Given the description of an element on the screen output the (x, y) to click on. 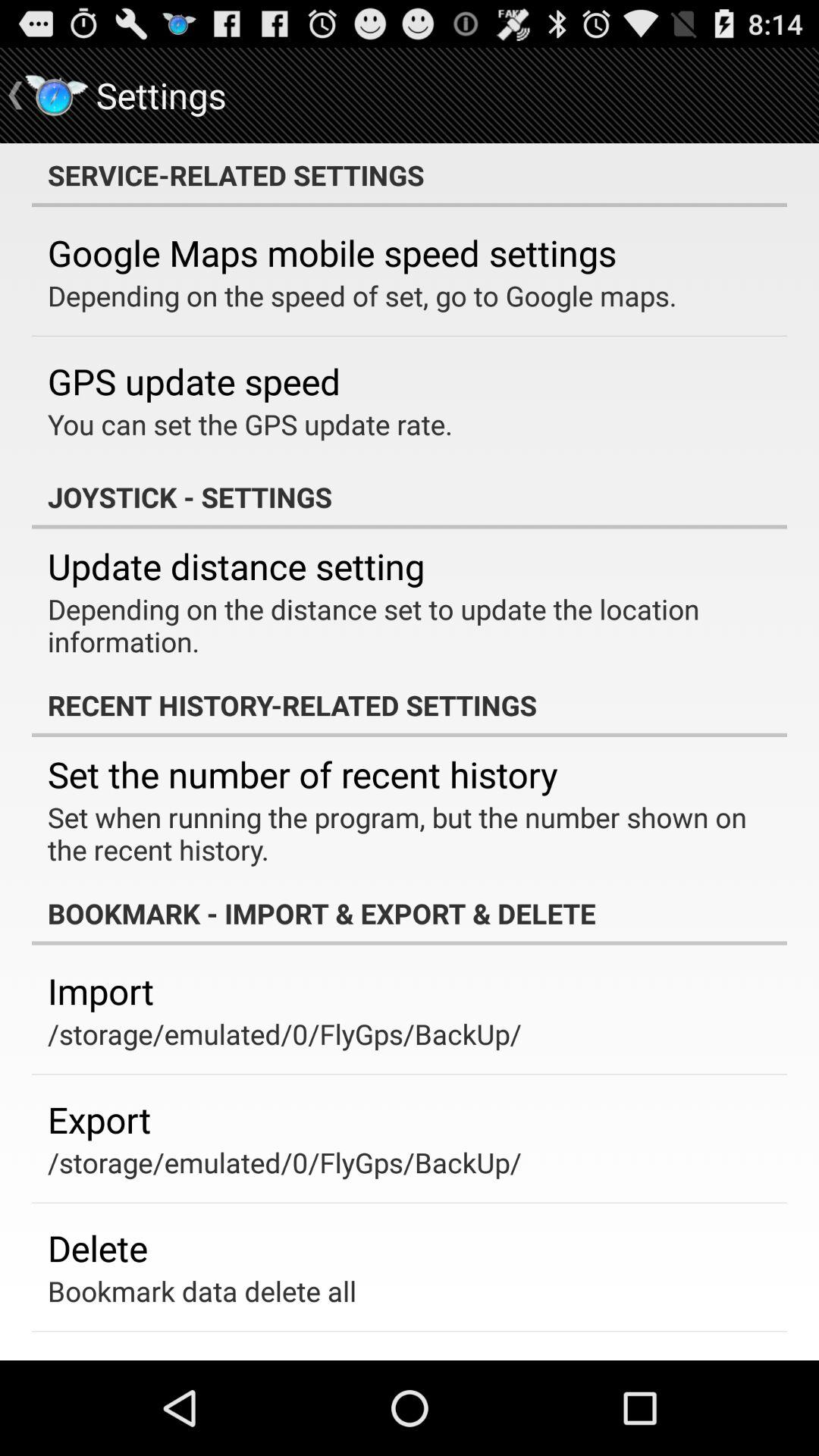
tap icon below set when running app (409, 913)
